Given the description of an element on the screen output the (x, y) to click on. 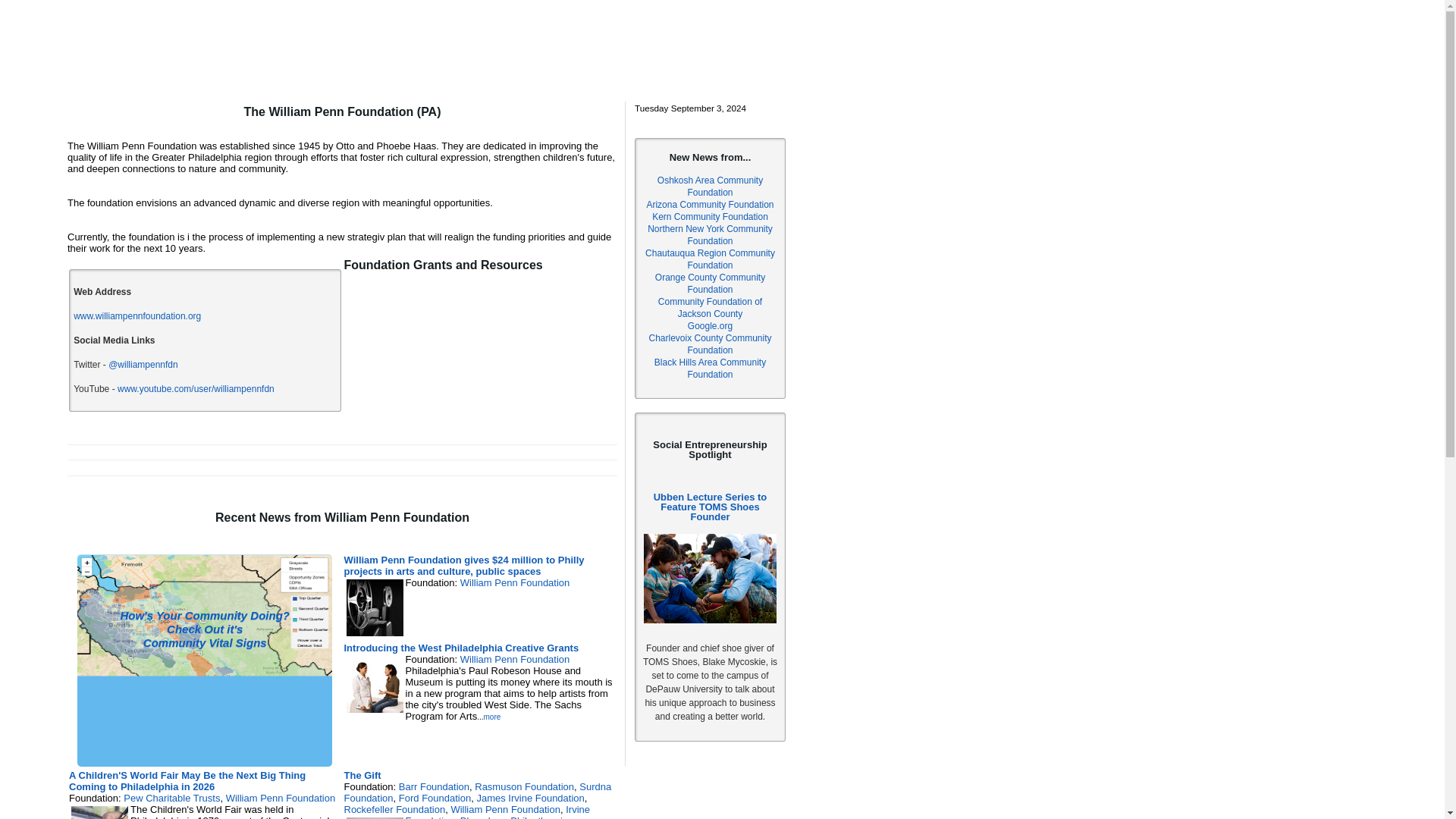
Ford Foundation (434, 797)
Surdna Foundation (477, 792)
Rasmuson Foundation (523, 786)
more (491, 716)
The Gift (362, 775)
Pew Charitable Trusts (171, 797)
William Penn Foundation (504, 808)
